Given the description of an element on the screen output the (x, y) to click on. 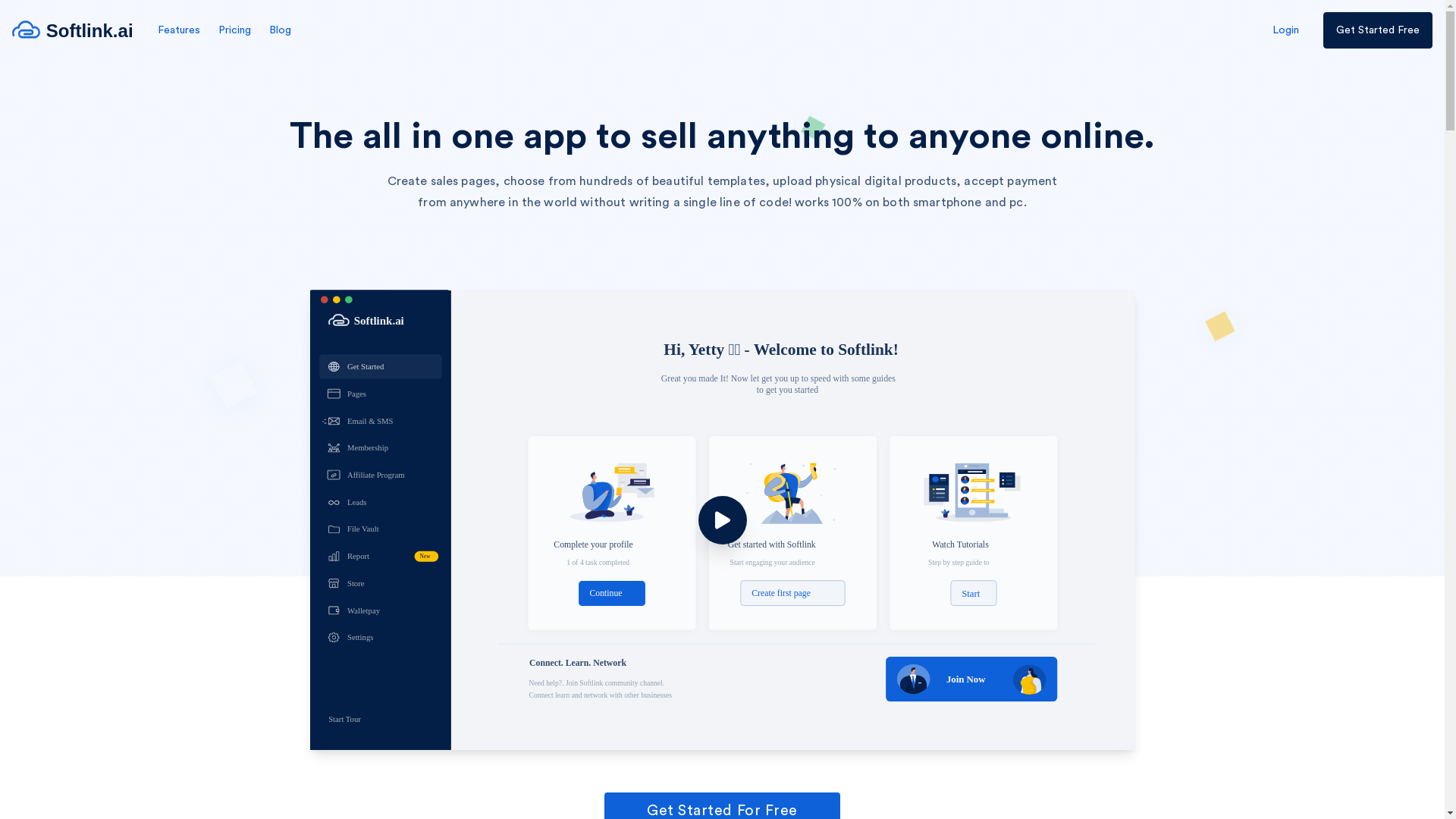
Blog Element type: text (280, 30)
Pricing Element type: text (234, 30)
Features Element type: text (178, 30)
Login Element type: text (1285, 29)
Get Started Free Element type: text (1377, 30)
